Given the description of an element on the screen output the (x, y) to click on. 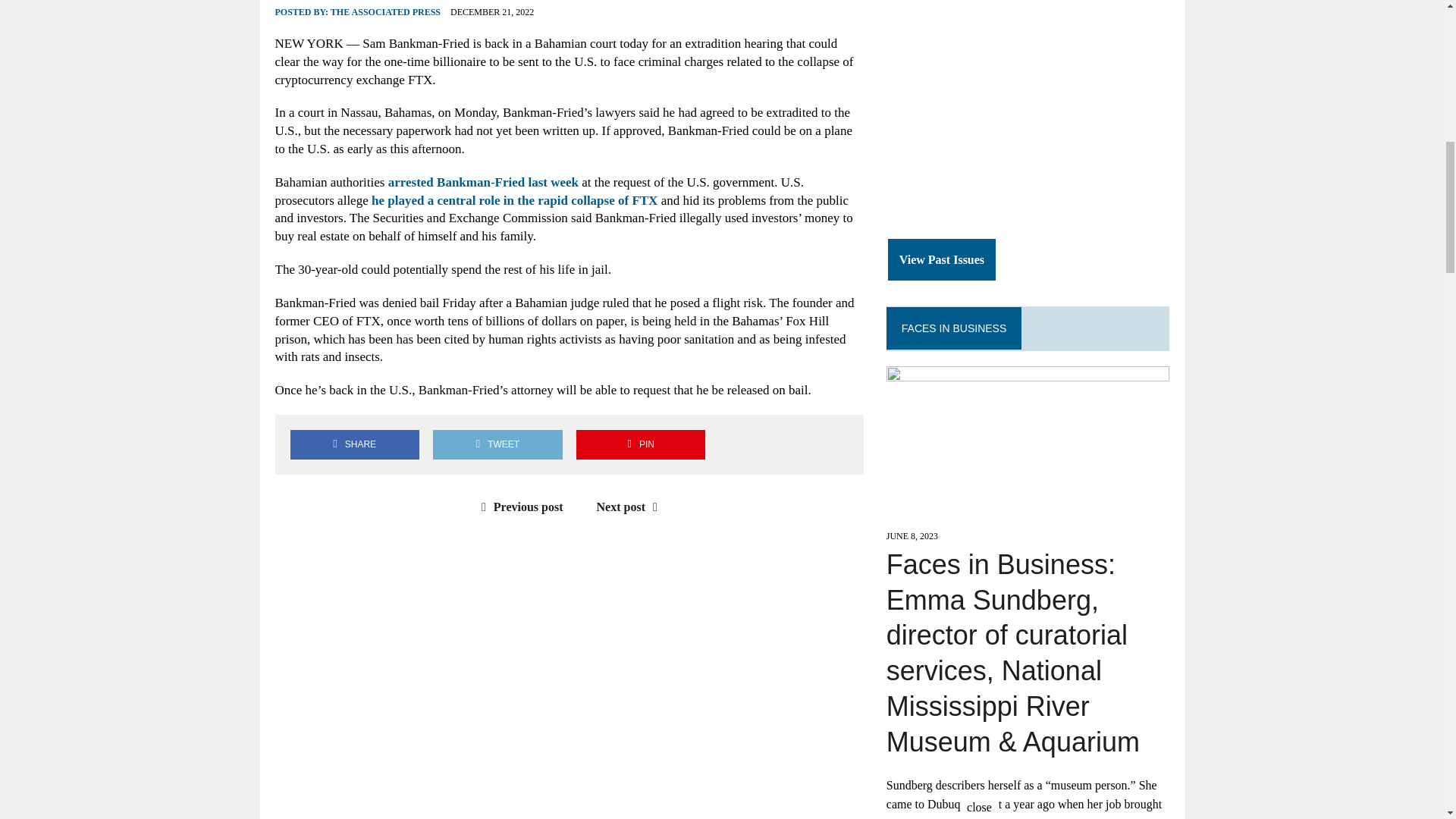
View Past Issues (941, 260)
THE ASSOCIATED PRESS (385, 11)
Pin This Post (640, 444)
PIN (640, 444)
Share on Facebook (354, 444)
TWEET (497, 444)
SHARE (354, 444)
Tweet This Post (497, 444)
he played a central role in the rapid collapse of FTX (514, 200)
arrested Bankman-Fried last week (483, 182)
